Given the description of an element on the screen output the (x, y) to click on. 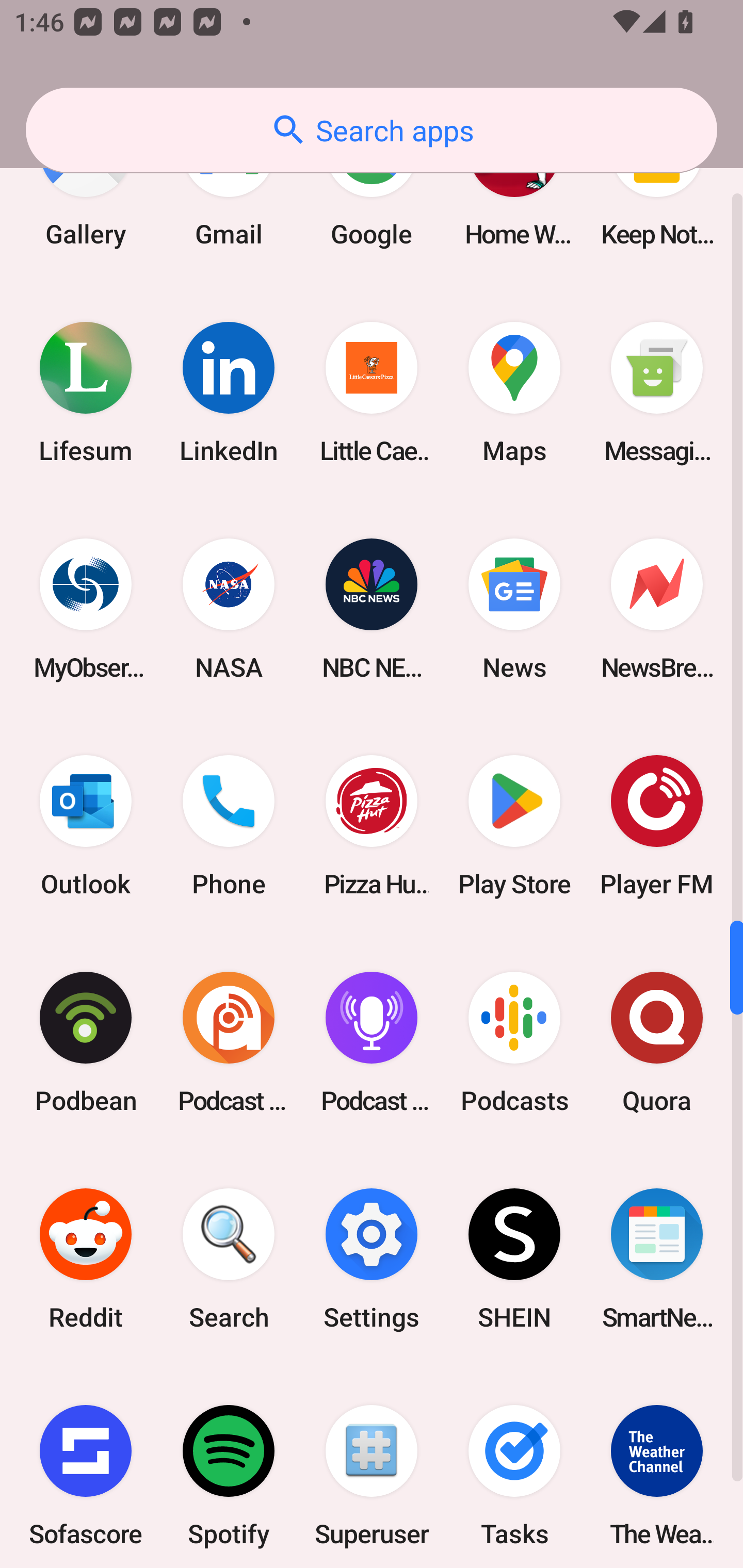
  Search apps (371, 130)
Lifesum (85, 391)
LinkedIn (228, 391)
Little Caesars Pizza (371, 391)
Maps (514, 391)
Messaging (656, 391)
MyObservatory (85, 609)
NASA (228, 609)
NBC NEWS (371, 609)
News (514, 609)
NewsBreak (656, 609)
Outlook (85, 826)
Phone (228, 826)
Pizza Hut HK & Macau (371, 826)
Play Store (514, 826)
Player FM (656, 826)
Podbean (85, 1042)
Podcast Addict (228, 1042)
Podcast Player (371, 1042)
Podcasts (514, 1042)
Quora (656, 1042)
Reddit (85, 1258)
Search (228, 1258)
Settings (371, 1258)
SHEIN (514, 1258)
SmartNews (656, 1258)
Sofascore (85, 1467)
Spotify (228, 1467)
Superuser (371, 1467)
Tasks (514, 1467)
The Weather Channel (656, 1467)
